Given the description of an element on the screen output the (x, y) to click on. 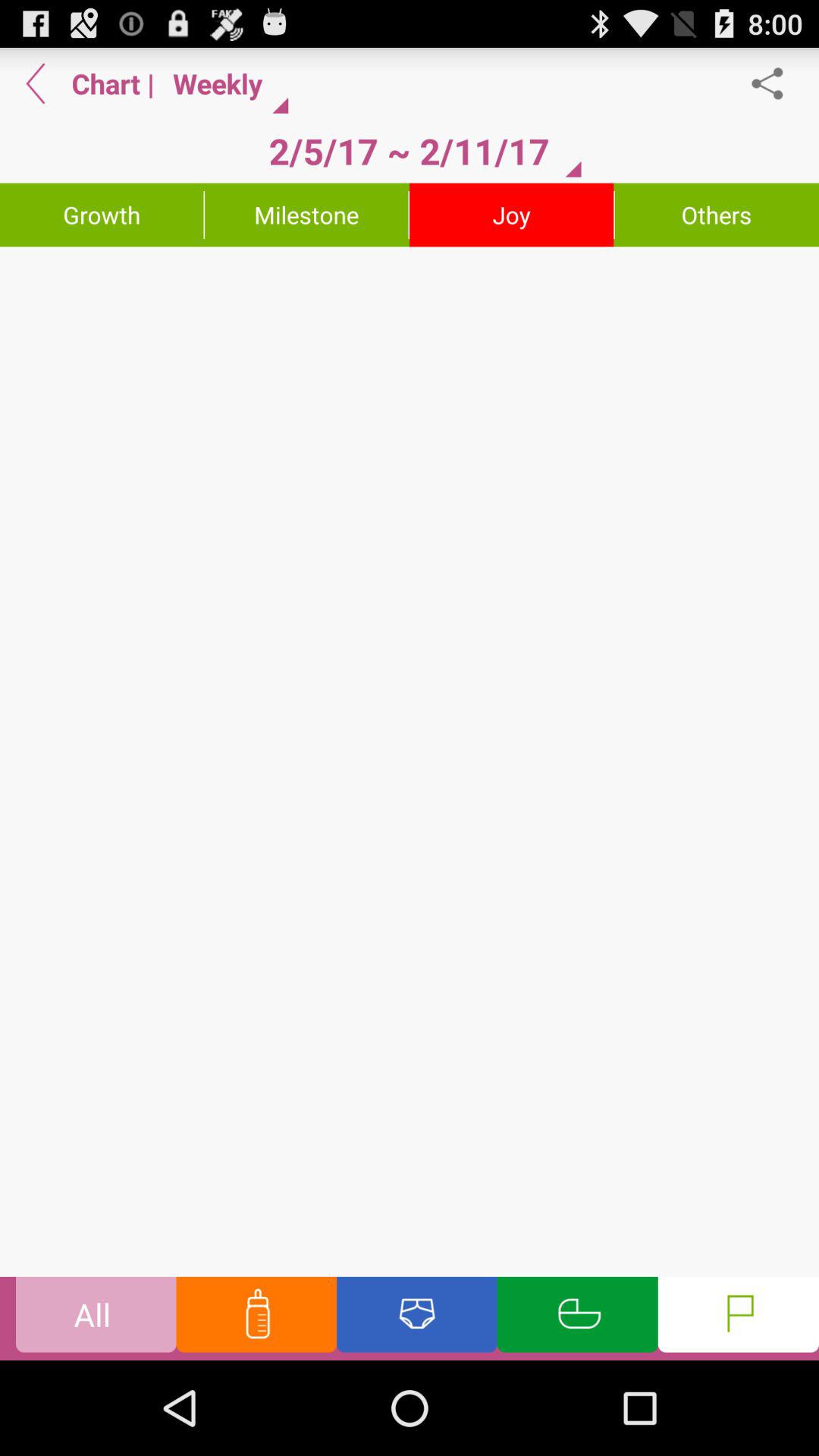
last chart (35, 83)
